Given the description of an element on the screen output the (x, y) to click on. 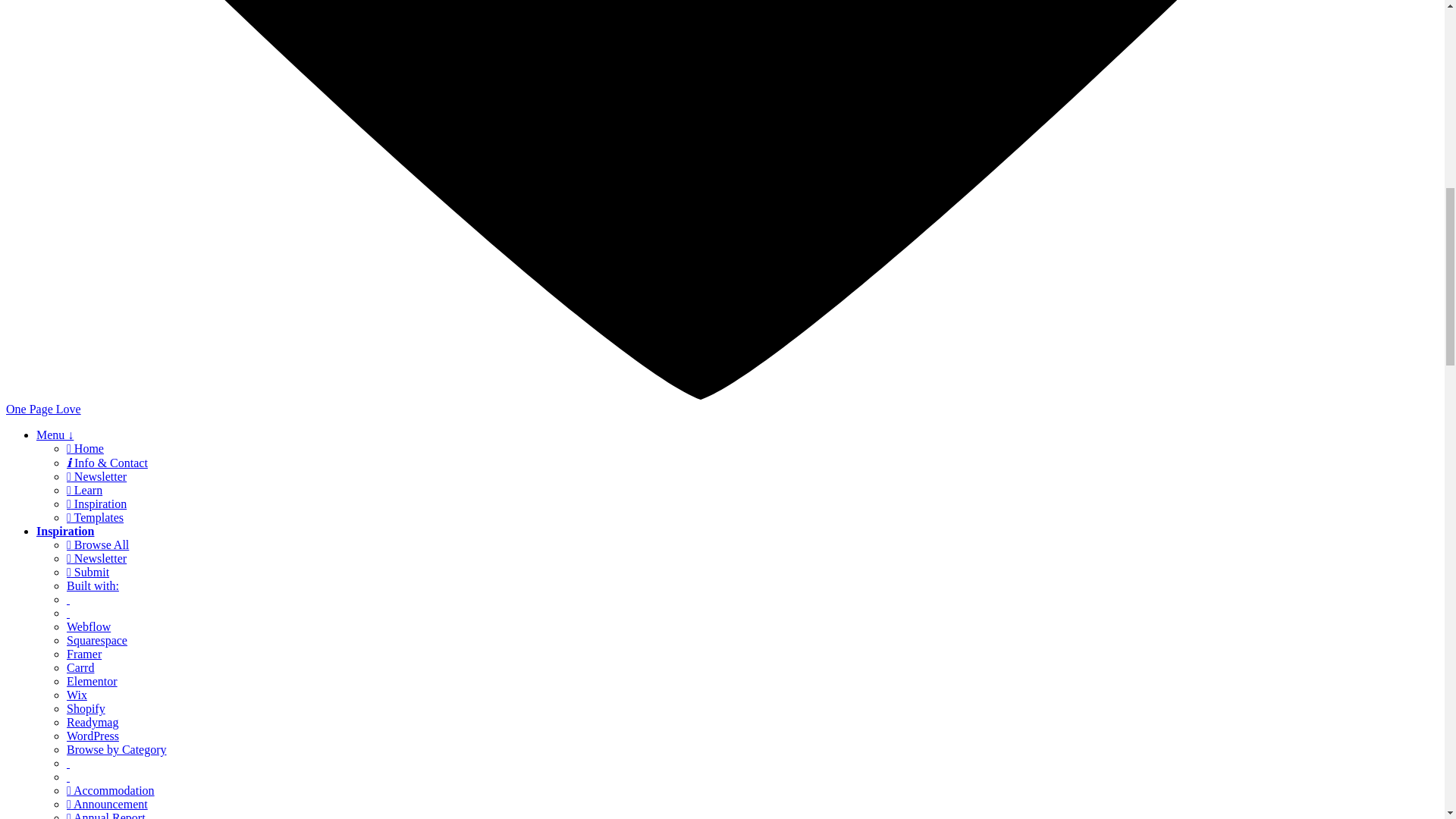
Submit unique One Page websites (87, 571)
Unique websites built with Framer (83, 653)
Unique websites built with WordPress (92, 735)
Framer (83, 653)
Subscribe to our weekly Love Letter (96, 558)
Elementor (91, 680)
Unique websites built with Wix (76, 694)
Unique websites built with Elementor (91, 680)
Unique websites built with Shopify (85, 707)
Squarespace (97, 640)
Readymag (91, 721)
Wix (76, 694)
Unique websites built with Squarespace (97, 640)
Browse by Category (116, 748)
Inspiration (65, 530)
